Given the description of an element on the screen output the (x, y) to click on. 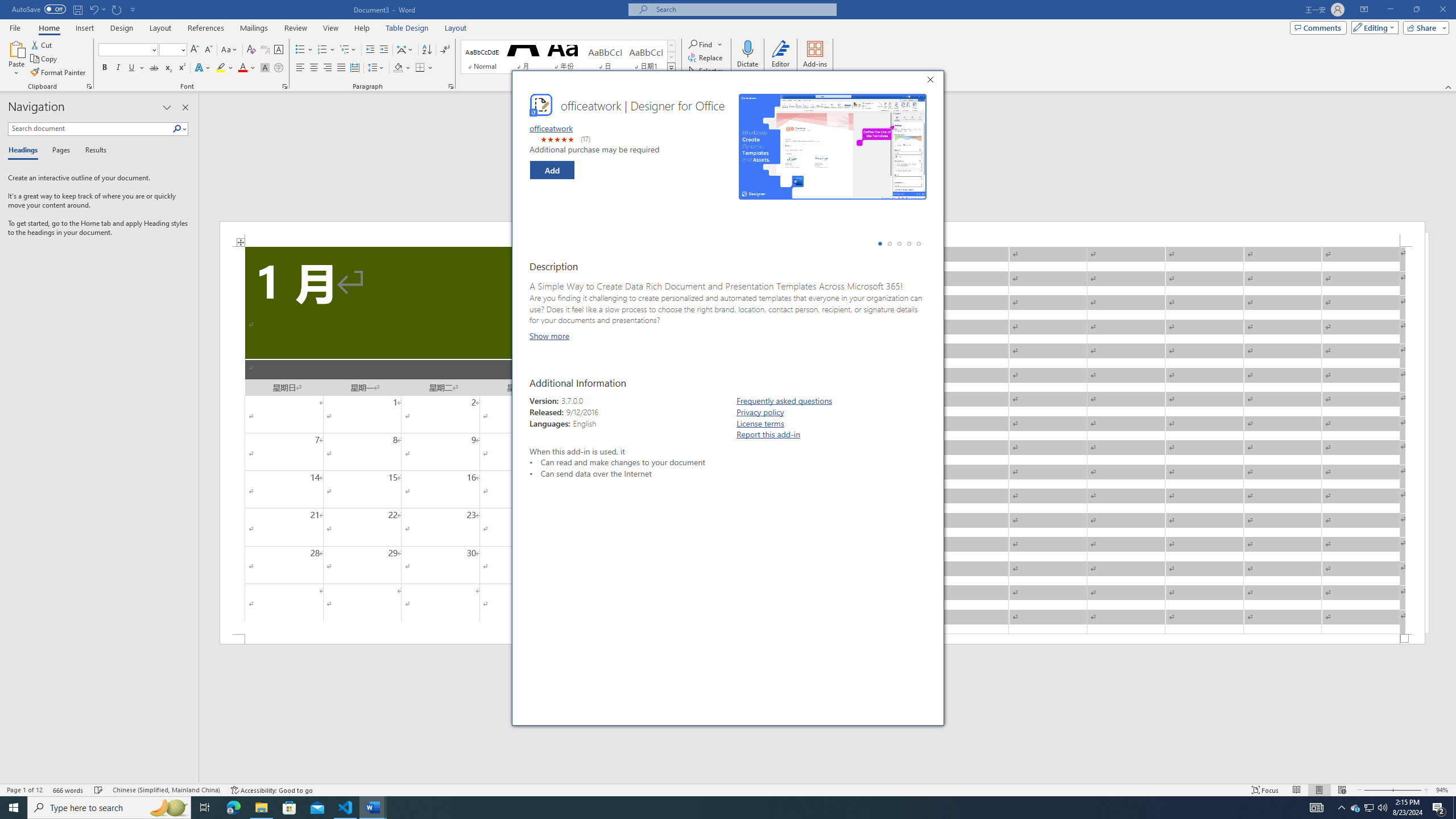
Then book a free demo today! (682, 508)
